Given the description of an element on the screen output the (x, y) to click on. 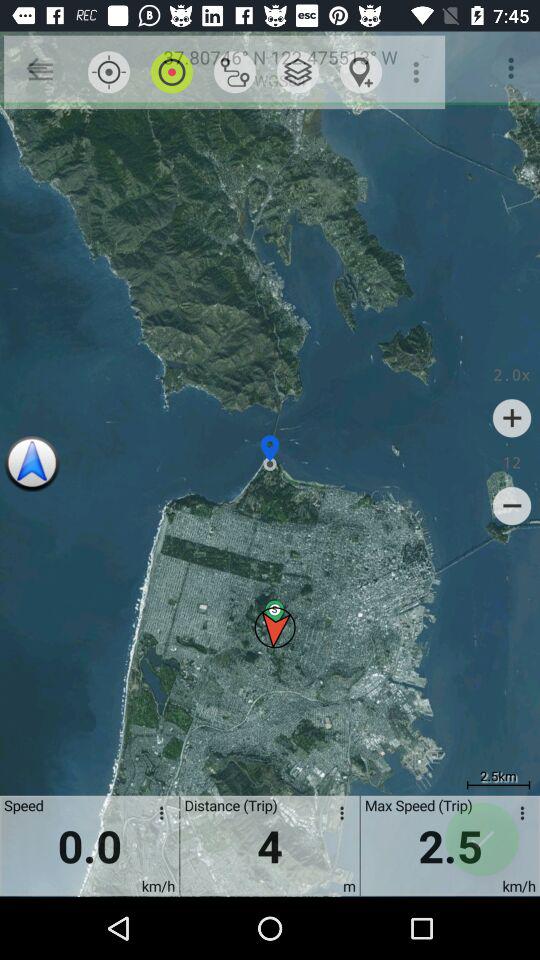
turn off icon above the distance (trip) (297, 71)
